Given the description of an element on the screen output the (x, y) to click on. 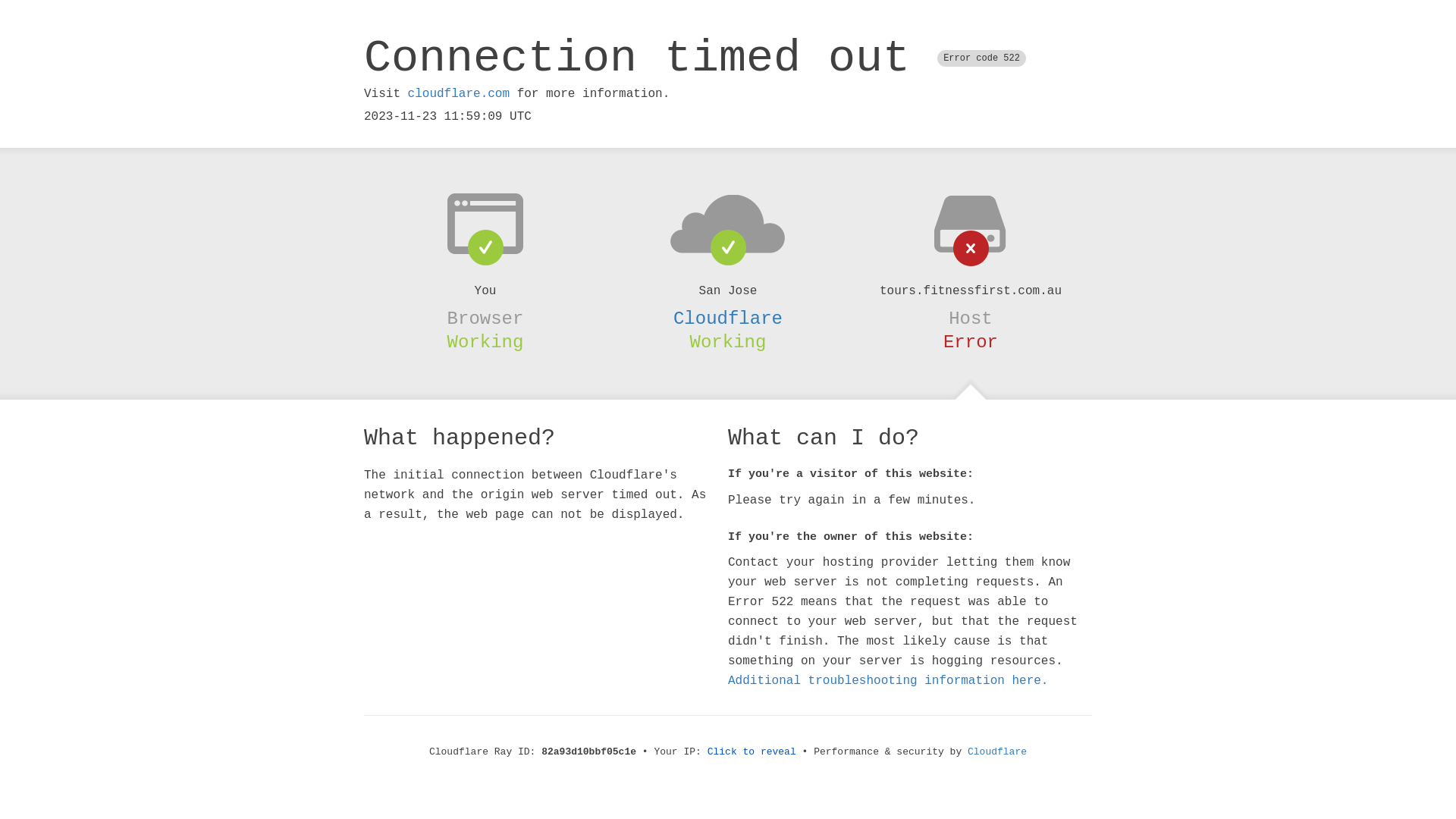
Cloudflare Element type: text (996, 751)
Additional troubleshooting information here. Element type: text (888, 680)
cloudflare.com Element type: text (458, 93)
Click to reveal Element type: text (751, 751)
Cloudflare Element type: text (727, 318)
